Given the description of an element on the screen output the (x, y) to click on. 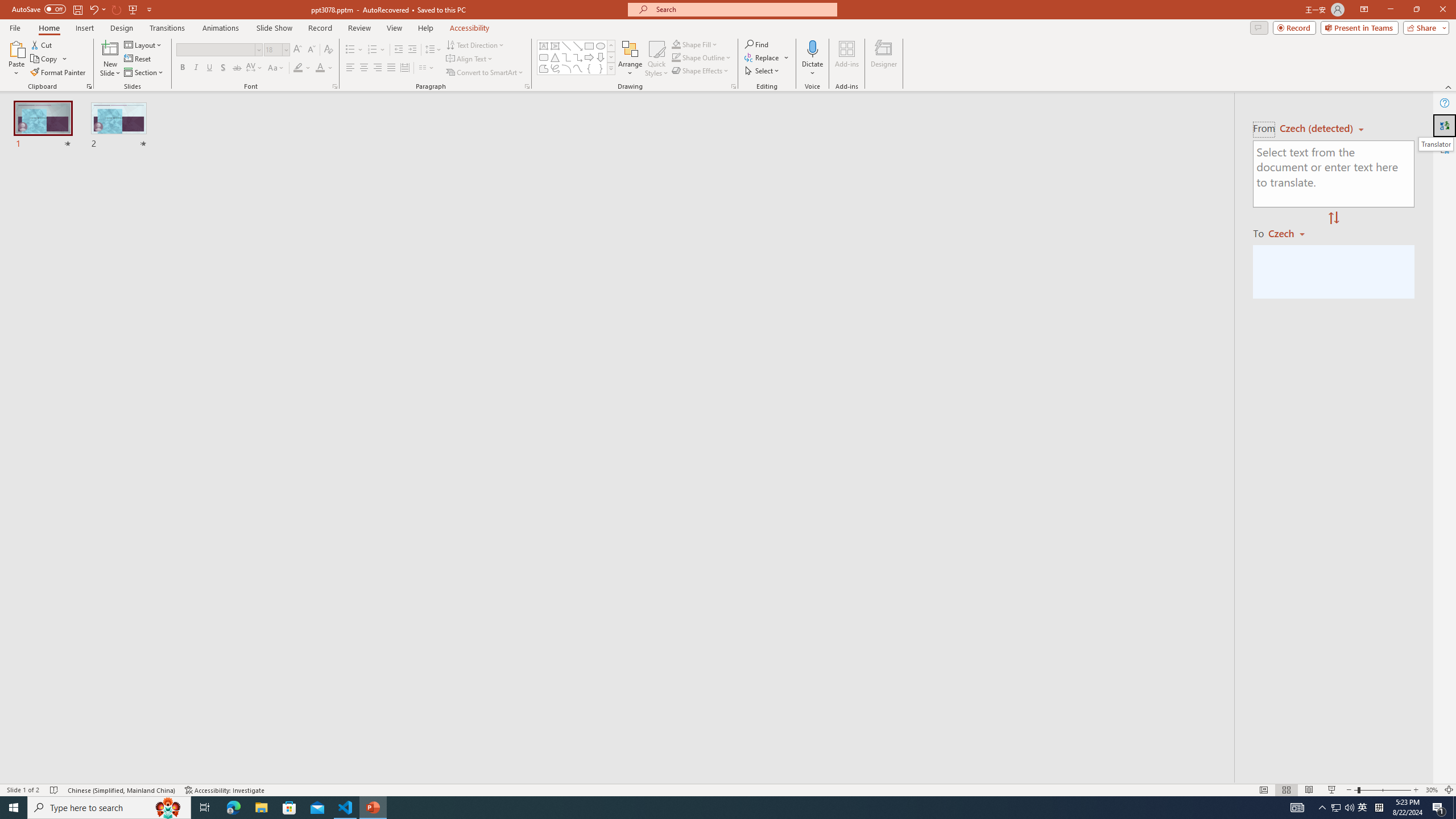
Vertical Text Box (554, 45)
Distributed (404, 67)
Designer (883, 58)
Copy (45, 58)
Right Brace (600, 68)
Select (762, 69)
Curve (577, 68)
Arc (566, 68)
File Tab (15, 27)
Freeform: Shape (543, 68)
Font Size (276, 49)
Font (215, 49)
